Given the description of an element on the screen output the (x, y) to click on. 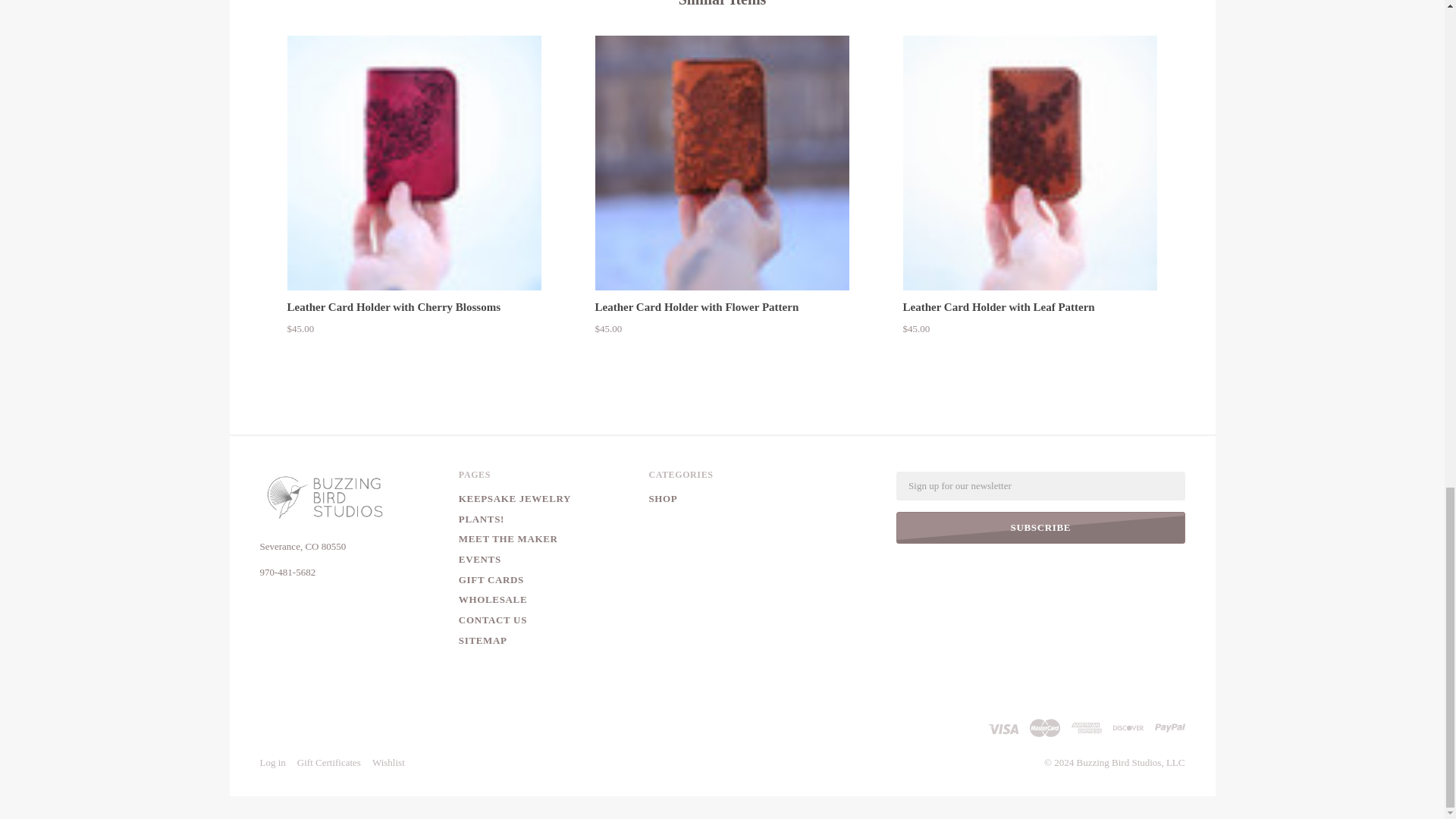
Leather Card Holder with Cherry Blossoms (413, 163)
Leather Card Holder with Leaf Pattern (1029, 163)
Leather Card Holder with Flower Pattern (722, 163)
Leather Card Holder with Flower Pattern (697, 306)
Subscribe (1040, 527)
Leather Card Holder with Cherry Blossoms (393, 306)
Leather Card Holder with Leaf Pattern (998, 306)
